Given the description of an element on the screen output the (x, y) to click on. 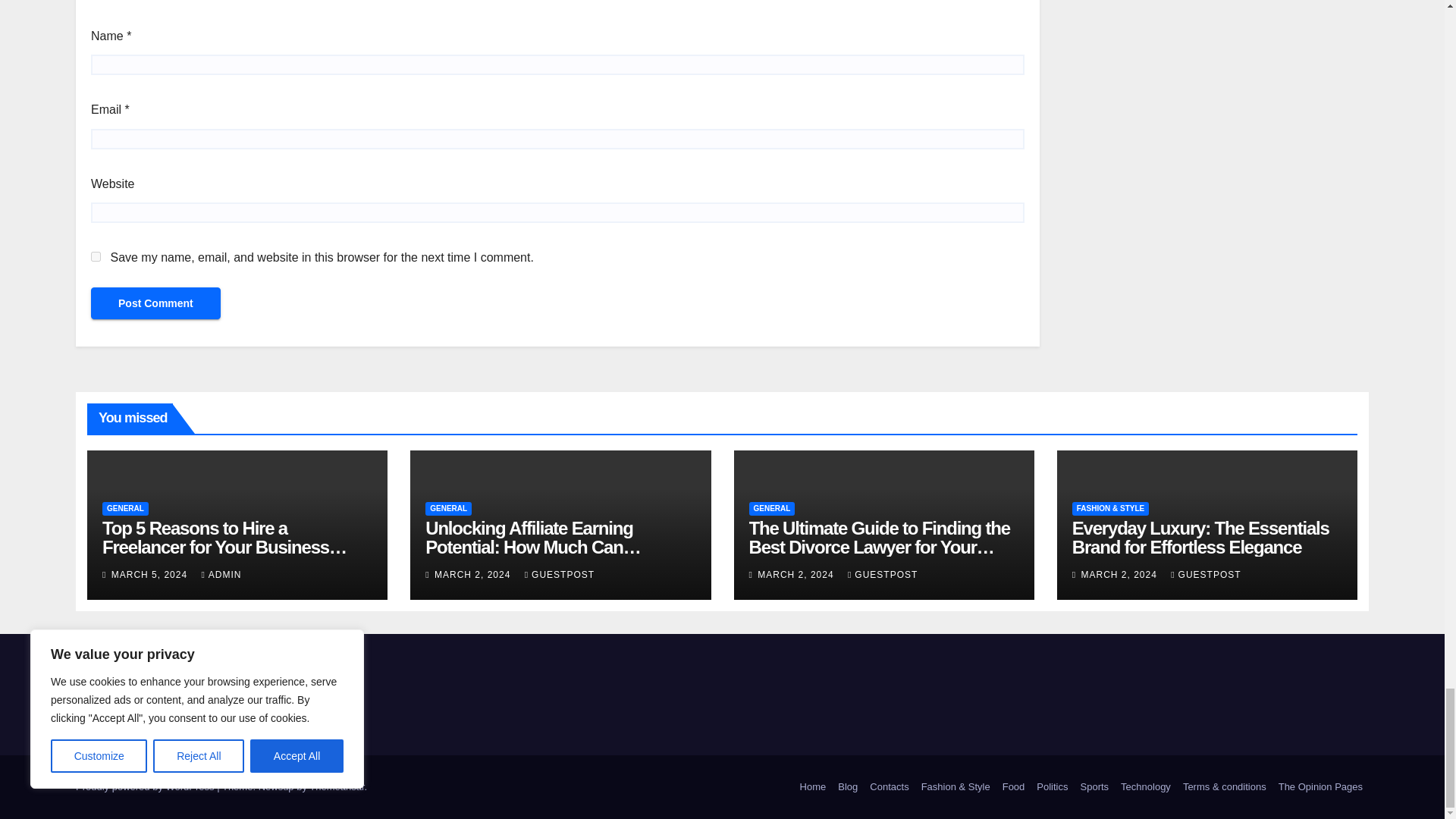
Post Comment (155, 303)
Home (812, 786)
yes (95, 256)
